Given the description of an element on the screen output the (x, y) to click on. 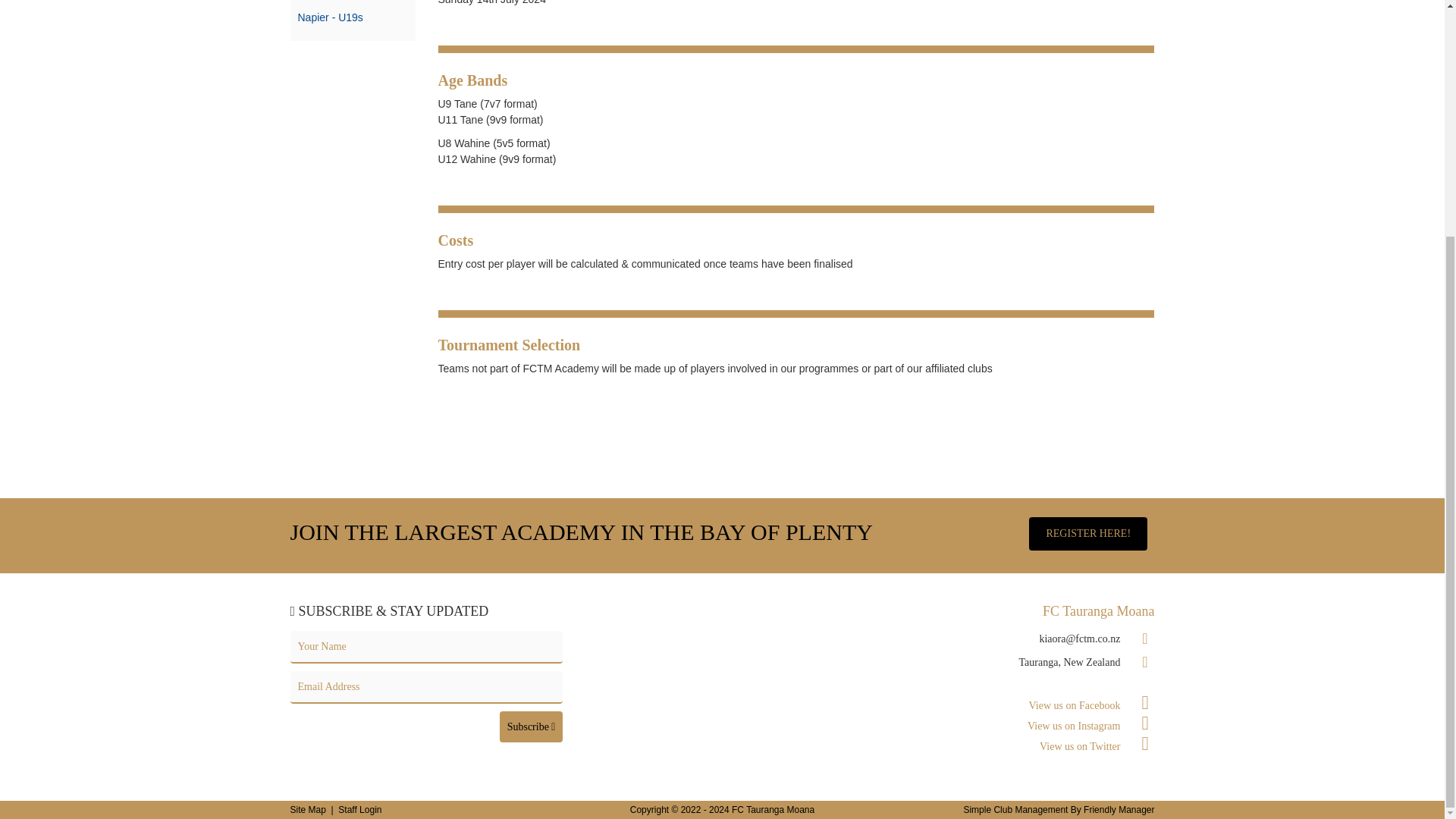
View us on Facebook (1091, 705)
View us on Instagram (1090, 726)
View the Site Map for FC Tauranga Moana (306, 809)
Login to FC Tauranga Moana (359, 809)
View us on Twitter (1096, 746)
